Given the description of an element on the screen output the (x, y) to click on. 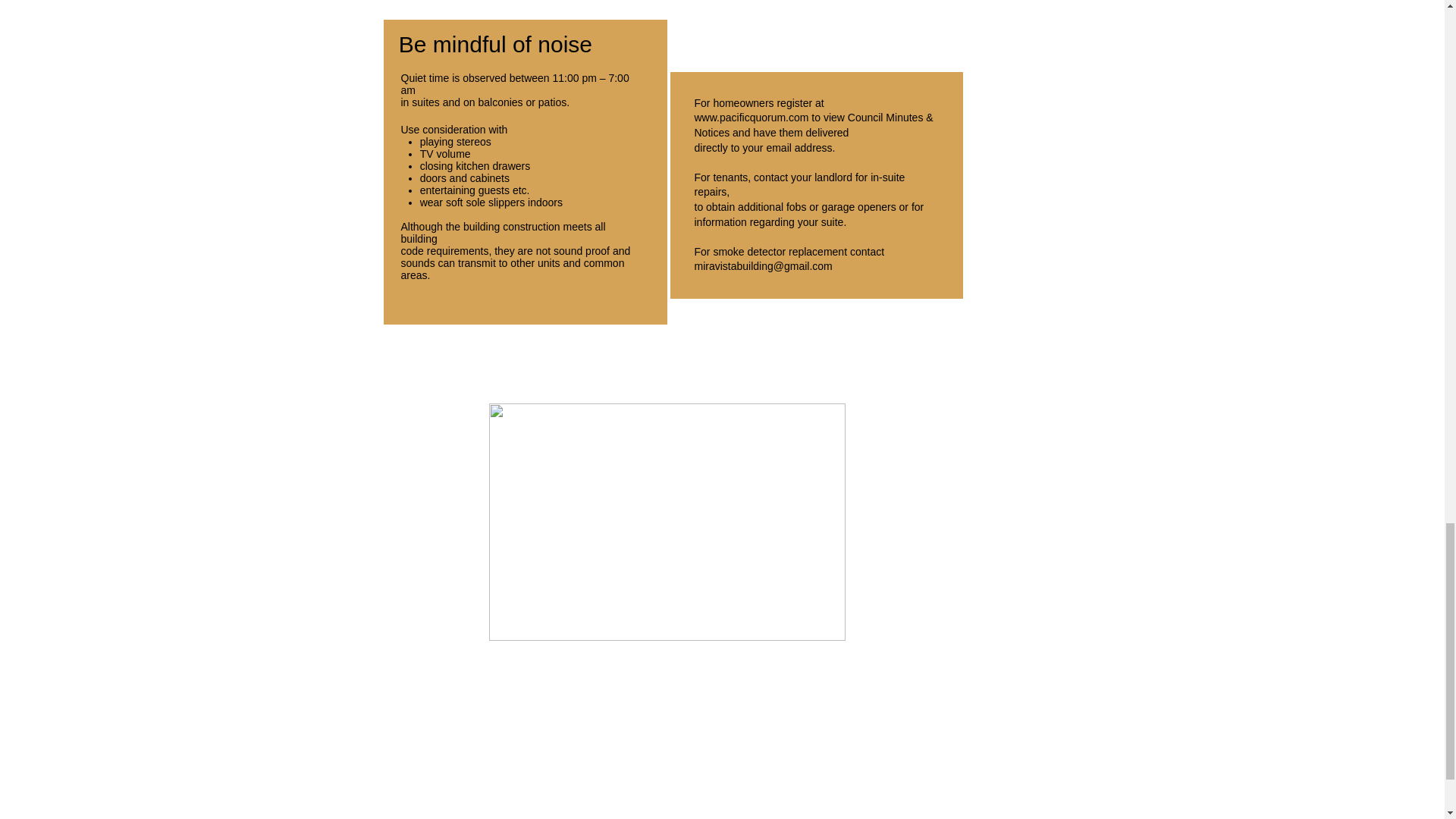
www.pacificquorum.com (751, 117)
pexels-pixabay-357514.jpg (665, 521)
